Given the description of an element on the screen output the (x, y) to click on. 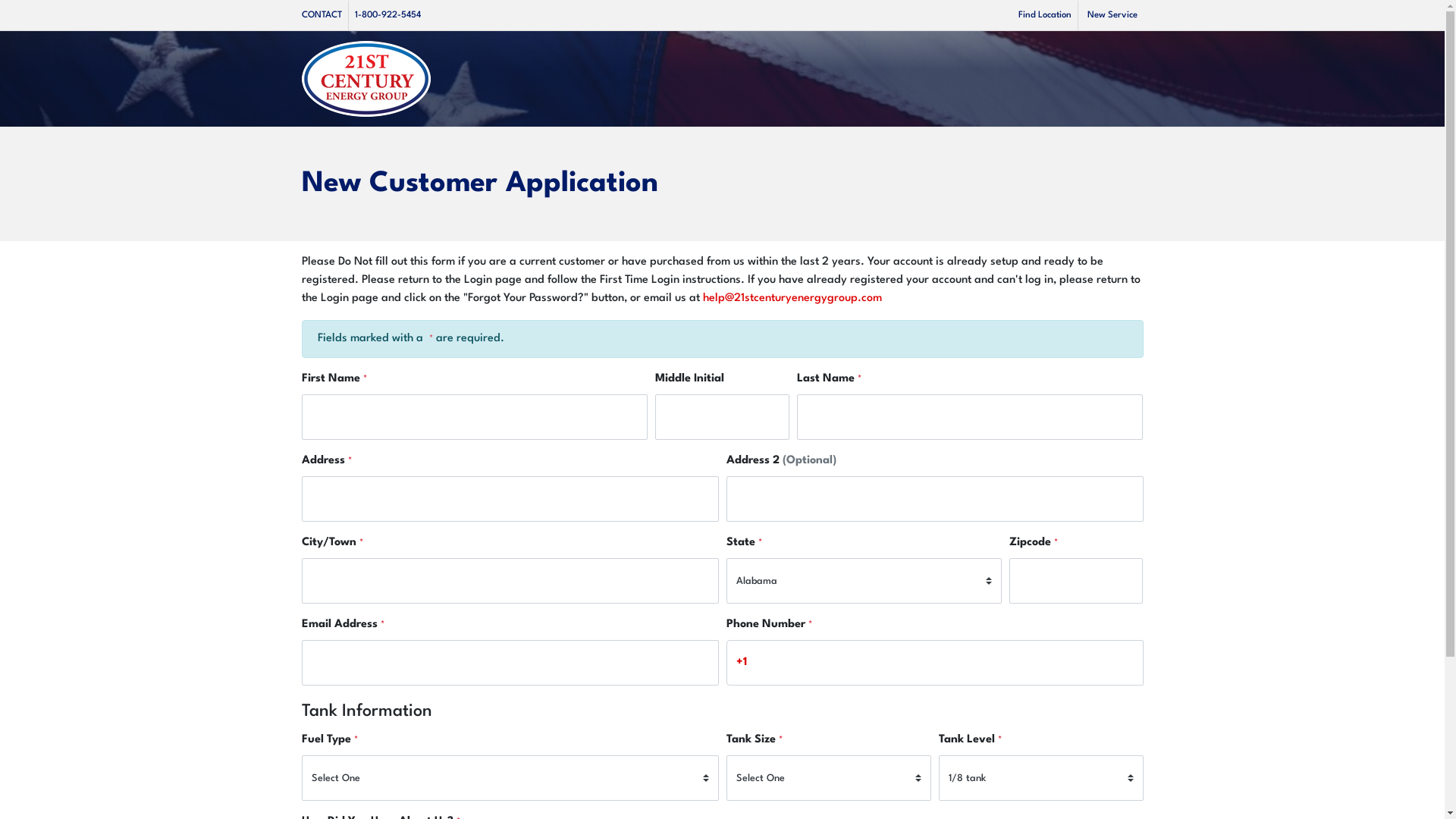
Reed Oil Element type: hover (365, 78)
Find Location Element type: text (1046, 15)
help@21stcenturyenergygroup.com Element type: text (791, 298)
1-800-922-5454 Element type: text (387, 15)
CONTACT Element type: text (324, 15)
New Service Element type: text (1112, 15)
